Given the description of an element on the screen output the (x, y) to click on. 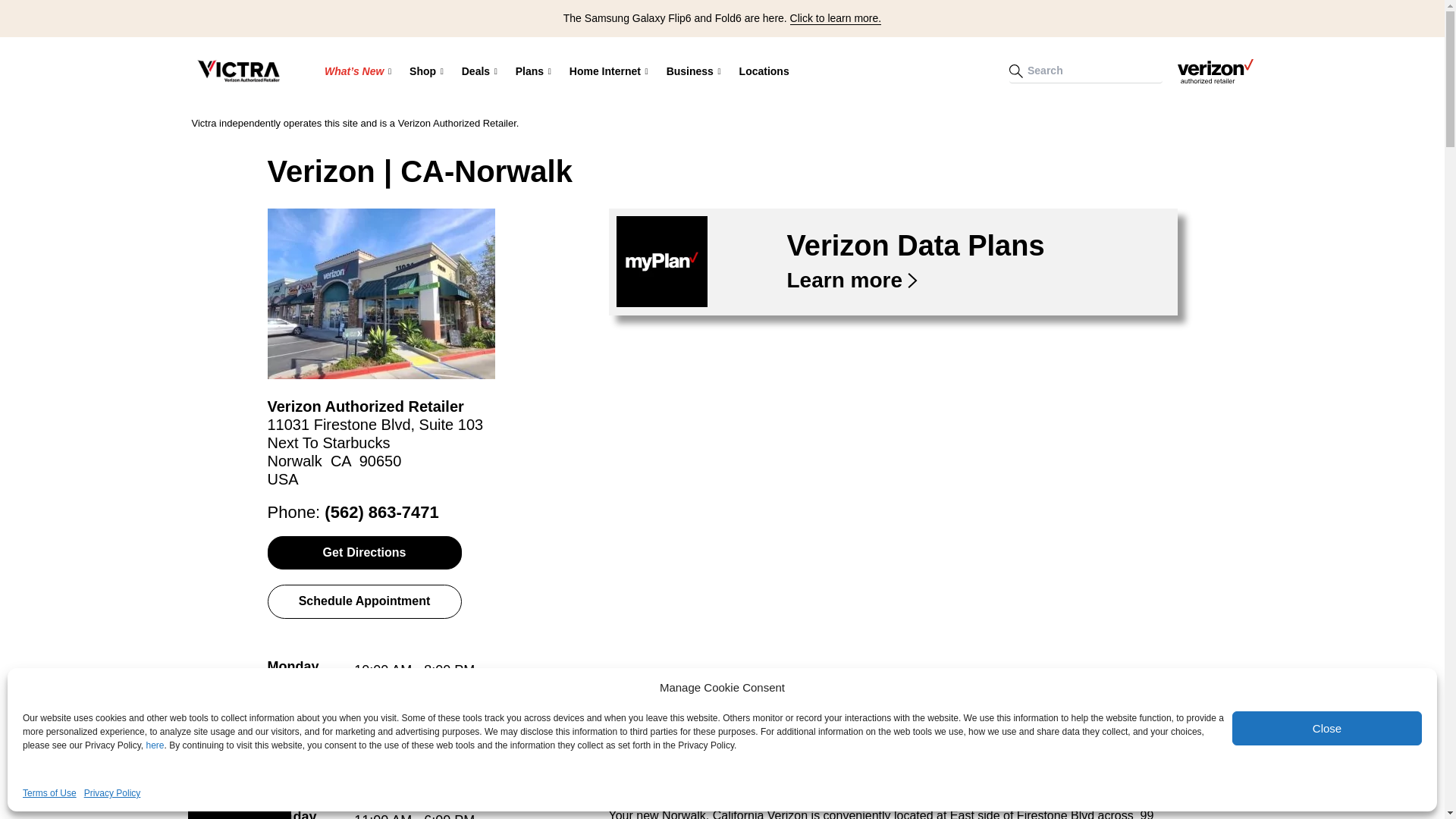
Apple (561, 122)
Accessories (561, 121)
here (155, 745)
Terms of Use (50, 793)
Close (1326, 728)
Click to learn more. (836, 18)
Apple iPhone 15 Series (424, 121)
All Devices (510, 121)
Mobile (615, 122)
Privacy Policy (112, 793)
Apple (510, 122)
